Given the description of an element on the screen output the (x, y) to click on. 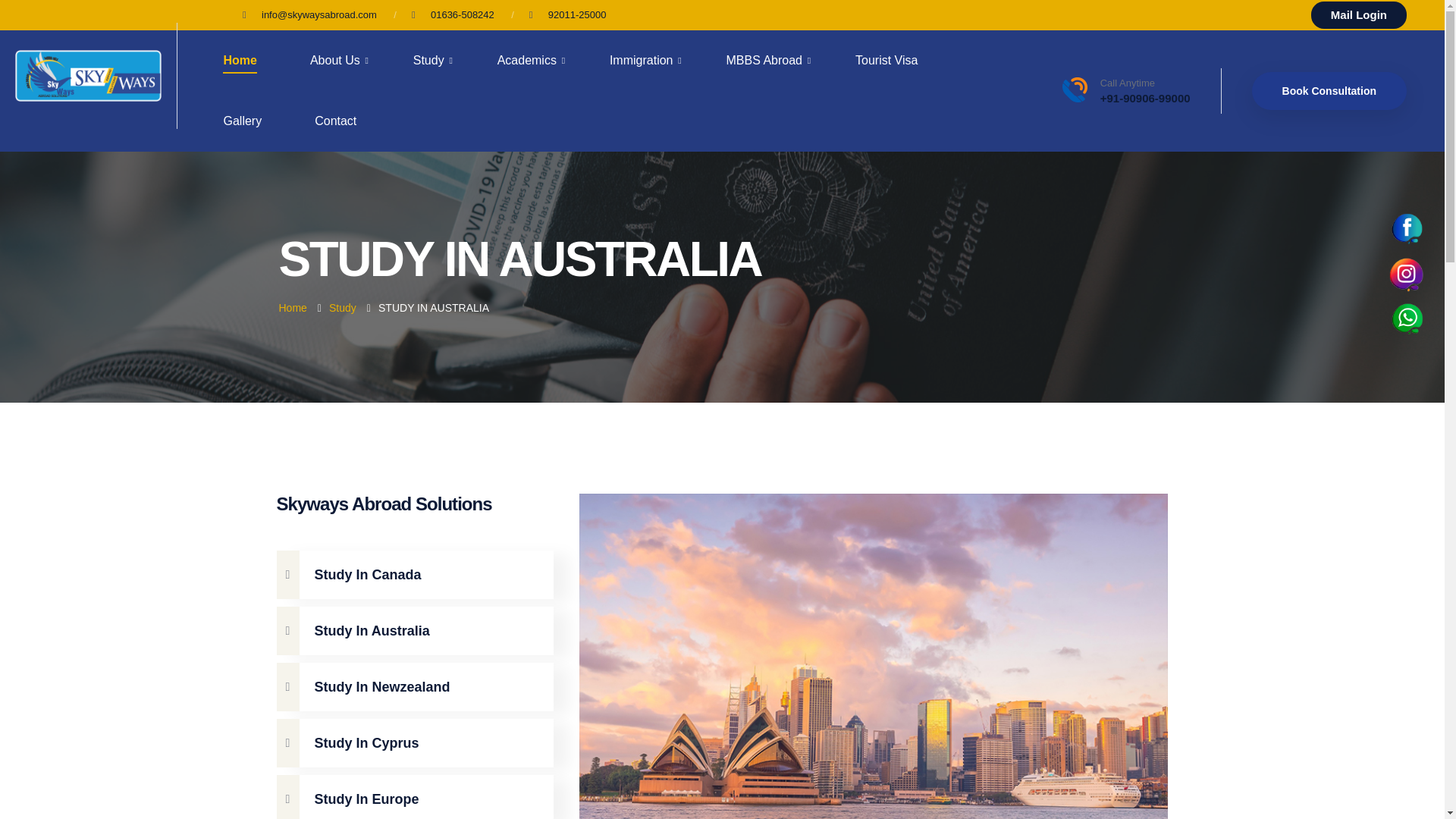
Academics (532, 60)
Contact (335, 120)
Gallery (242, 120)
Home (239, 60)
Study (433, 60)
Mail Login (1358, 14)
Tronis (87, 74)
Book Consultation (1329, 90)
About Us (340, 60)
92011-25000 (577, 14)
